Given the description of an element on the screen output the (x, y) to click on. 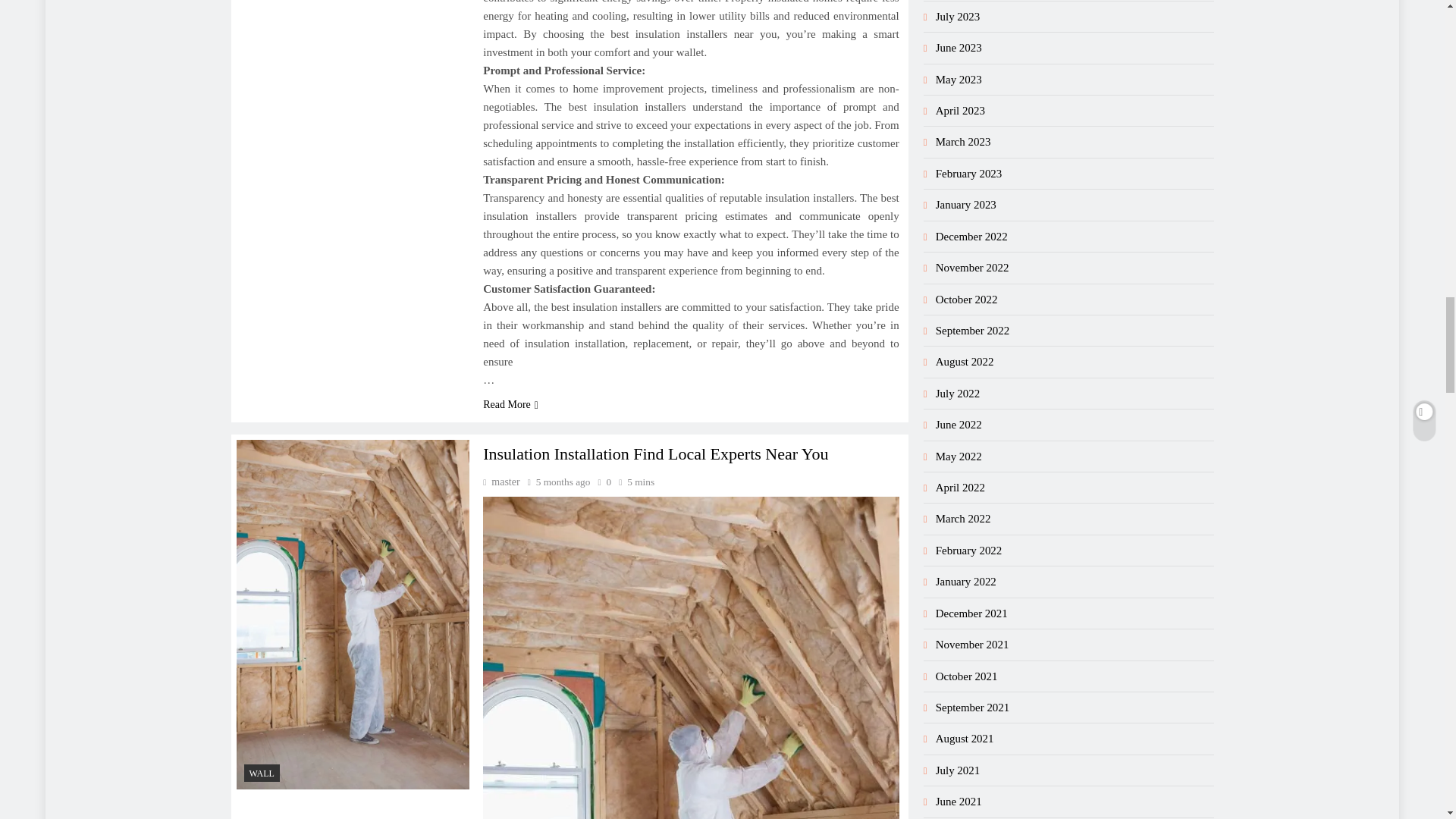
master (501, 481)
Insulation Installation Find Local Experts Near You (655, 453)
Read More (510, 404)
Insulation Installation Find Local Experts Near You (655, 453)
WALL (261, 773)
Insulation Installation Find Local Experts Near You (690, 657)
5 months ago (563, 481)
